Given the description of an element on the screen output the (x, y) to click on. 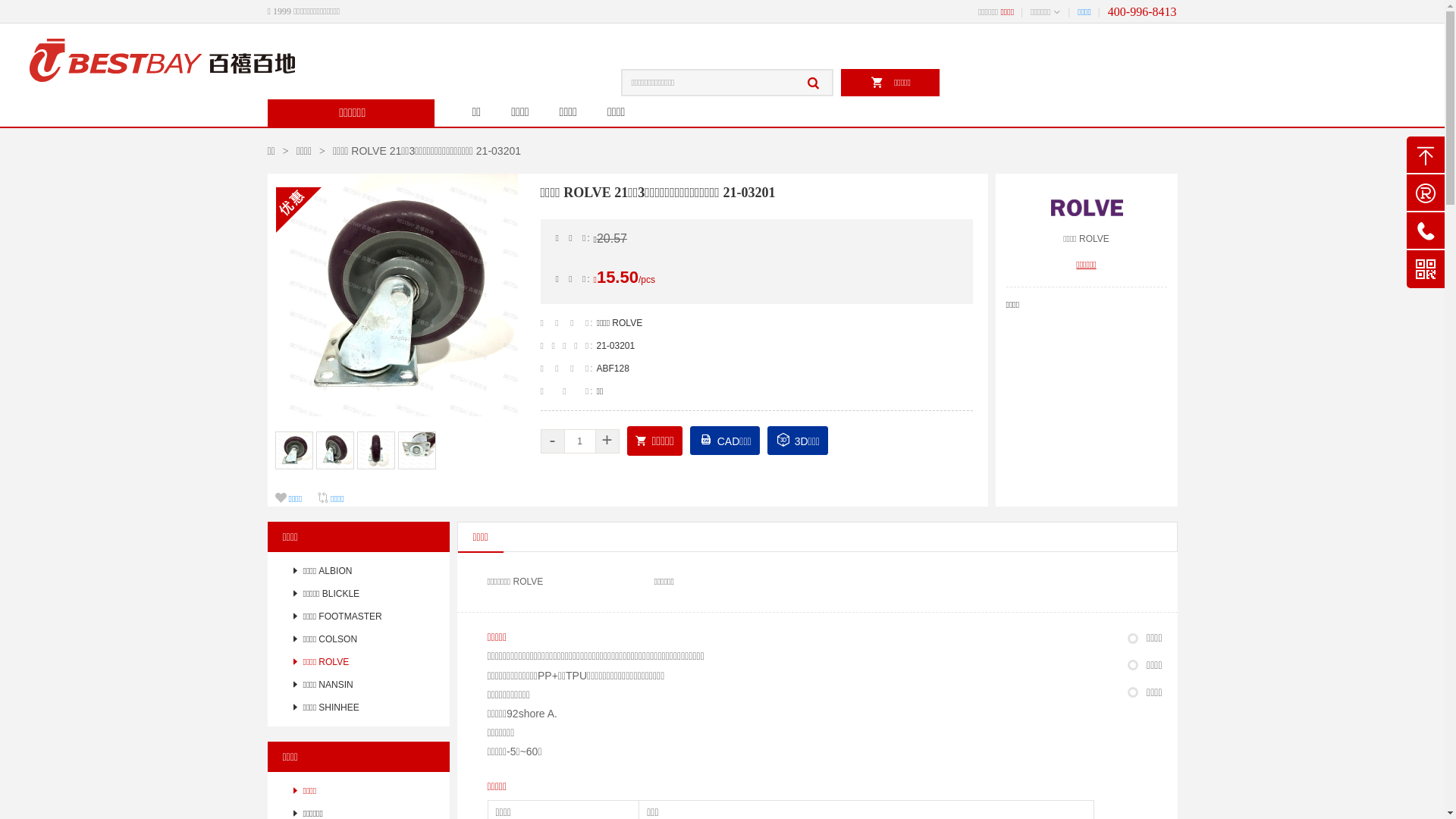
+ Element type: text (606, 441)
400-996-8413 Element type: text (1141, 11)
- Element type: text (551, 441)
